Given the description of an element on the screen output the (x, y) to click on. 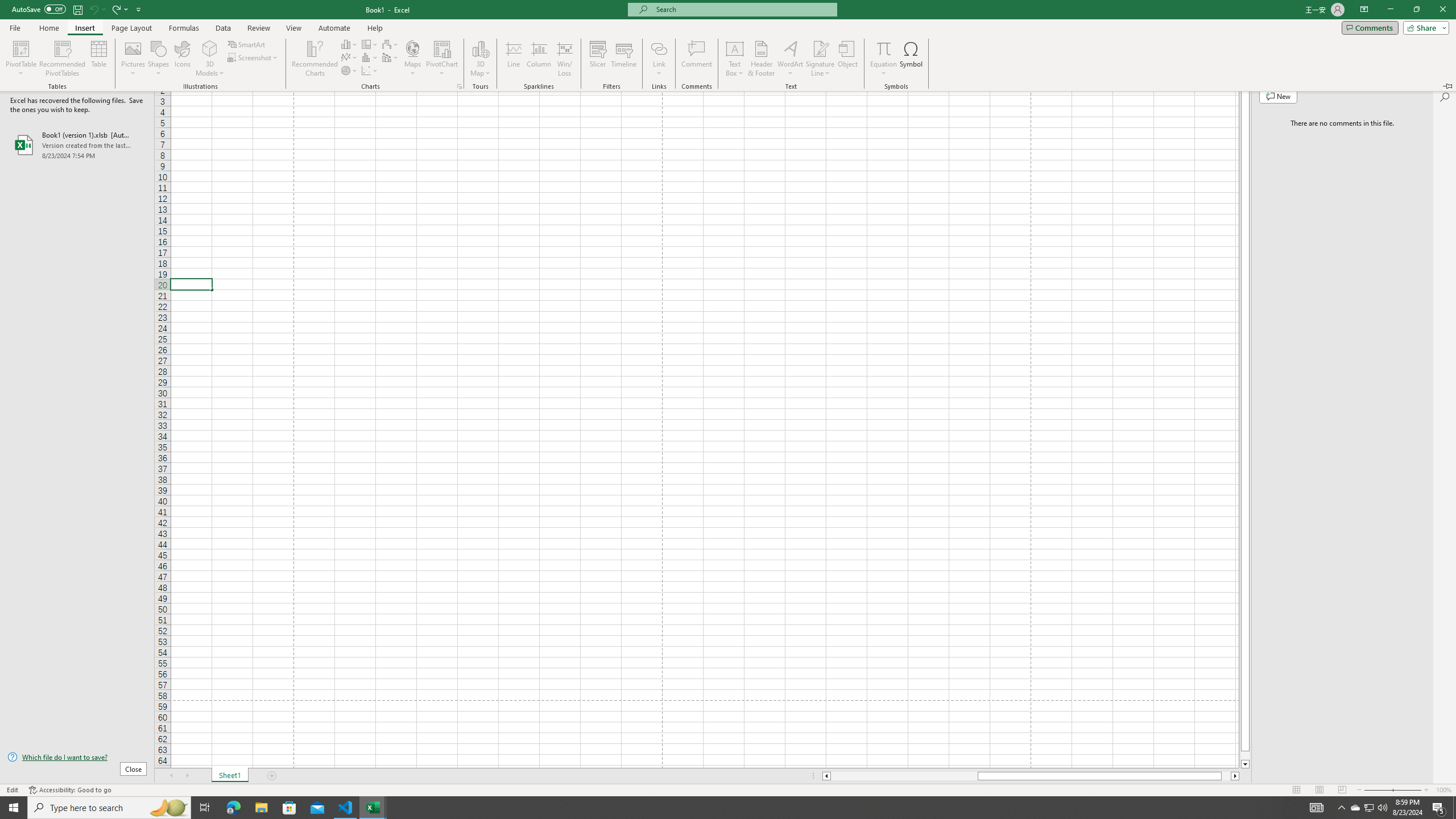
User Promoted Notification Area (1368, 807)
Microsoft Edge (1368, 807)
